Given the description of an element on the screen output the (x, y) to click on. 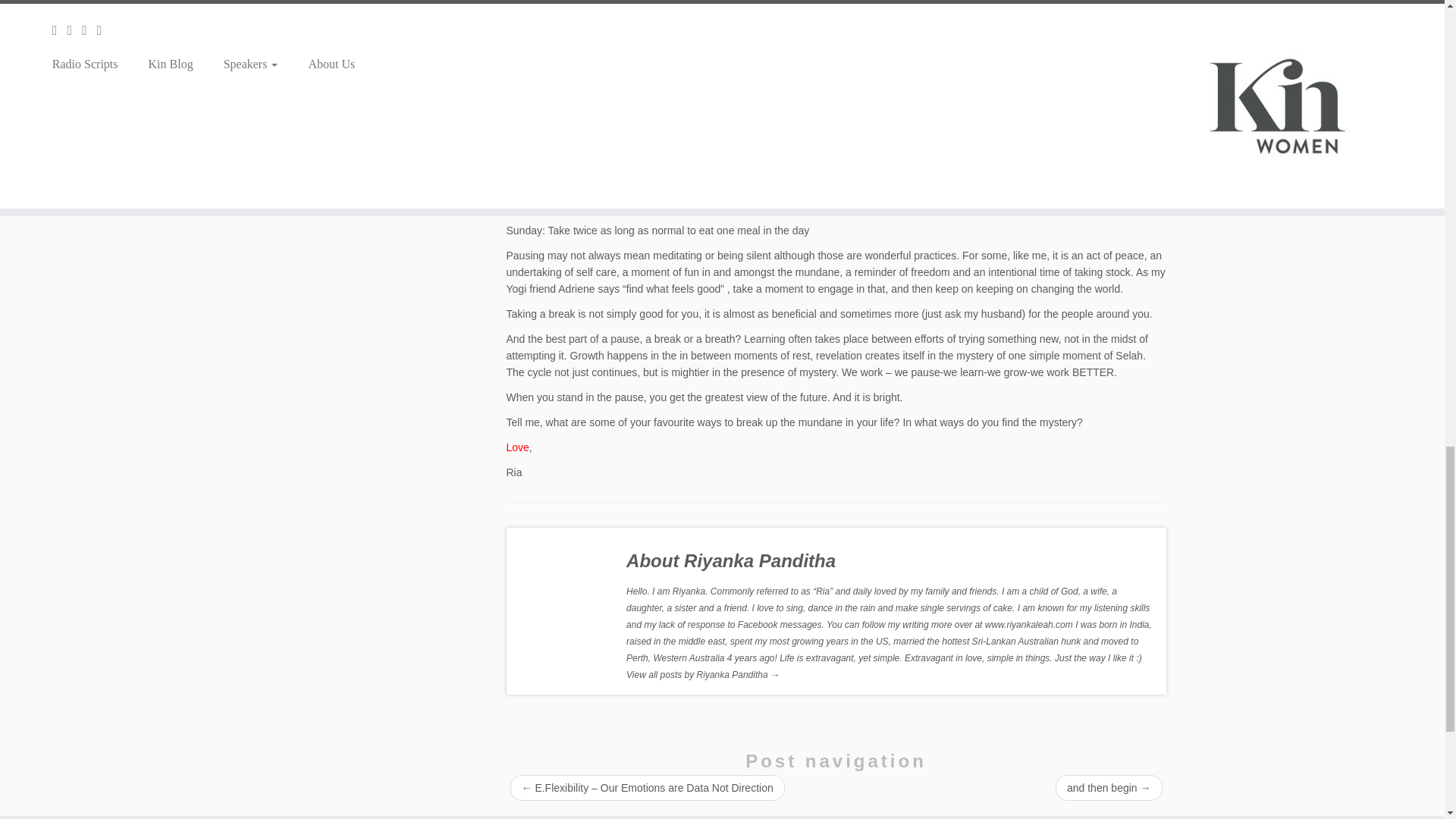
Adriene (575, 288)
